Given the description of an element on the screen output the (x, y) to click on. 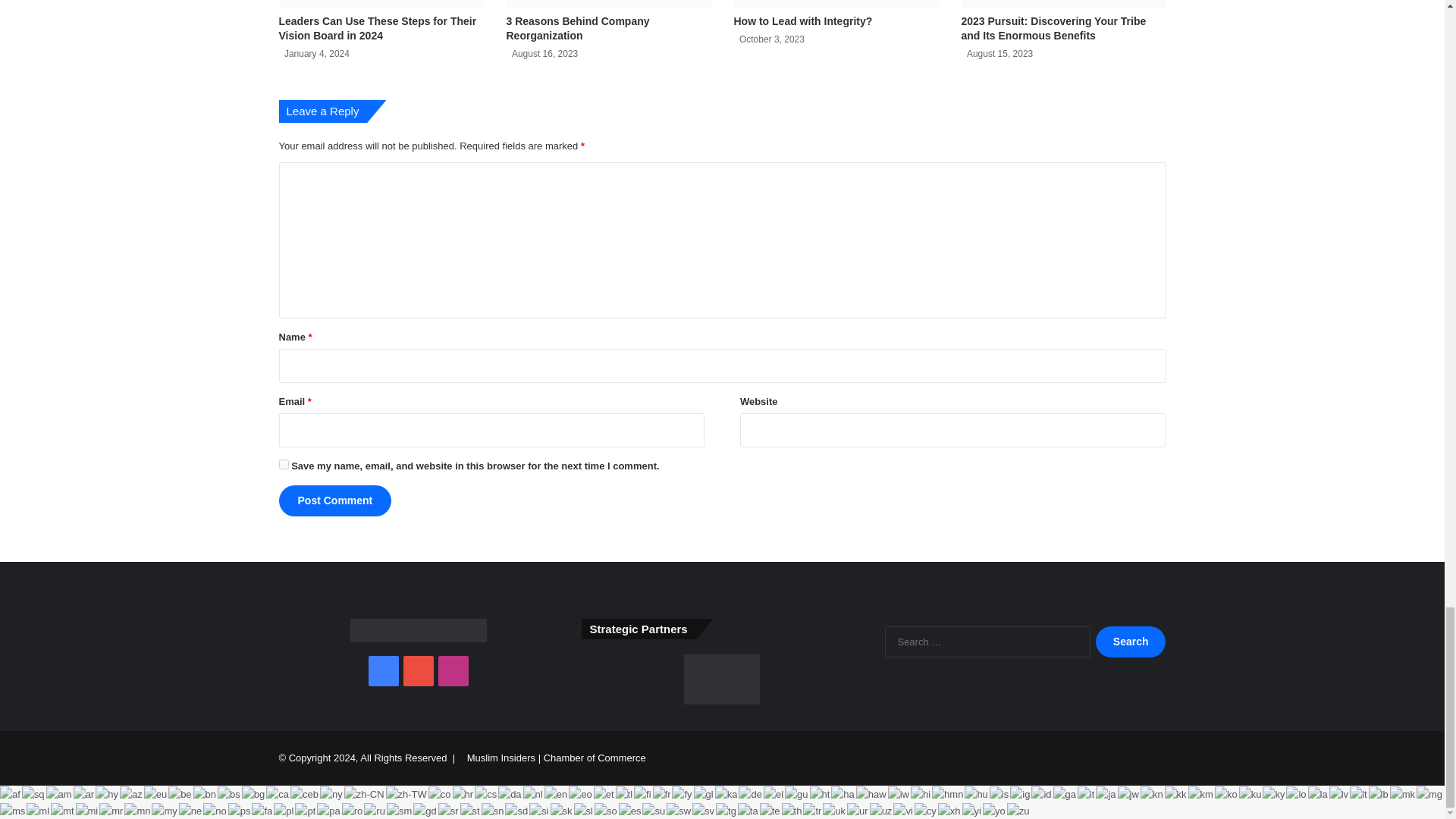
Search (1131, 641)
Post Comment (335, 500)
yes (283, 464)
Search (1131, 641)
